Given the description of an element on the screen output the (x, y) to click on. 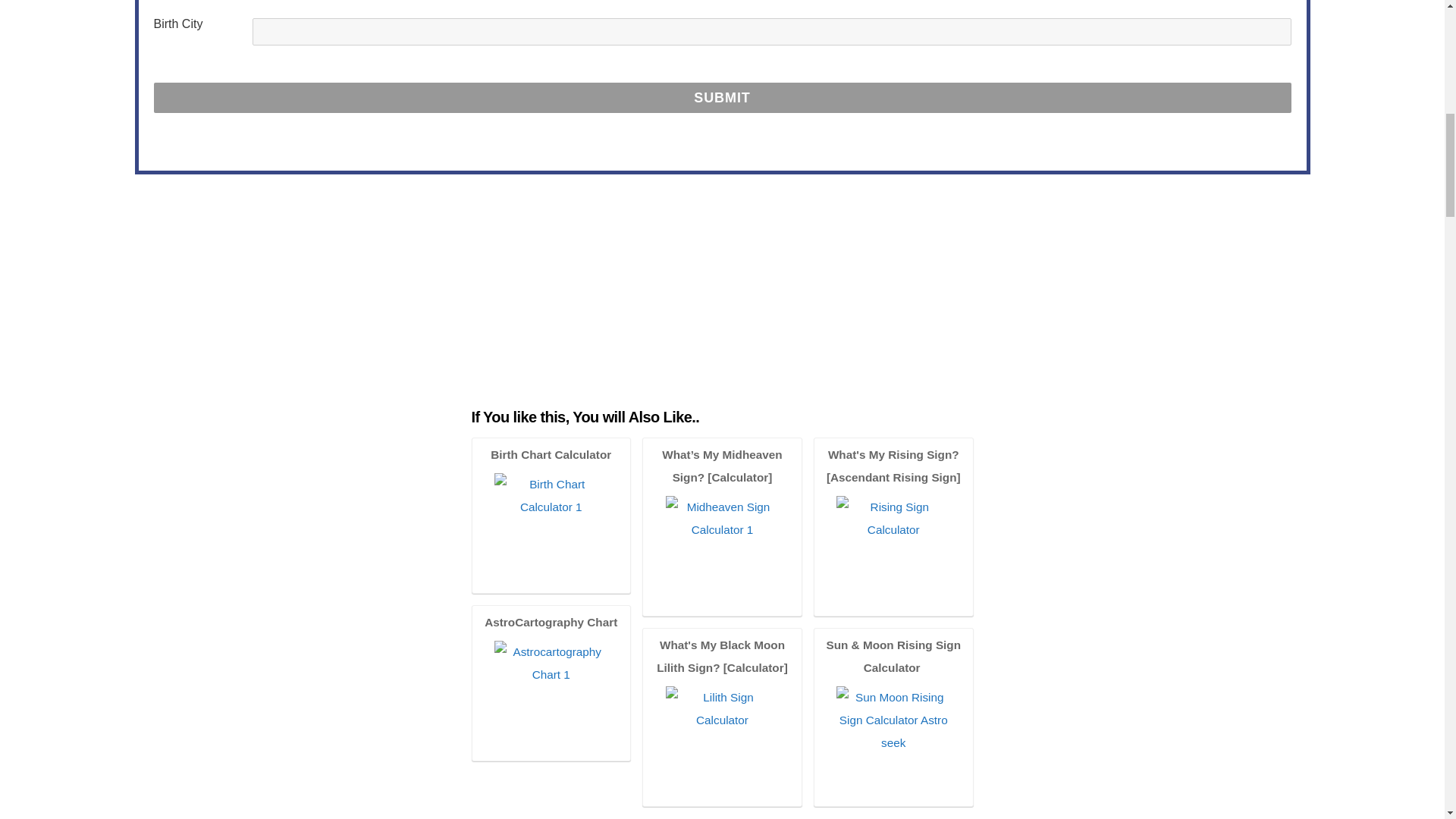
AstroCartography Chart (550, 684)
Birth Chart Calculator (550, 529)
AstroCartography Chart (550, 697)
Birth Chart Calculator (550, 516)
Submit (721, 97)
